Given the description of an element on the screen output the (x, y) to click on. 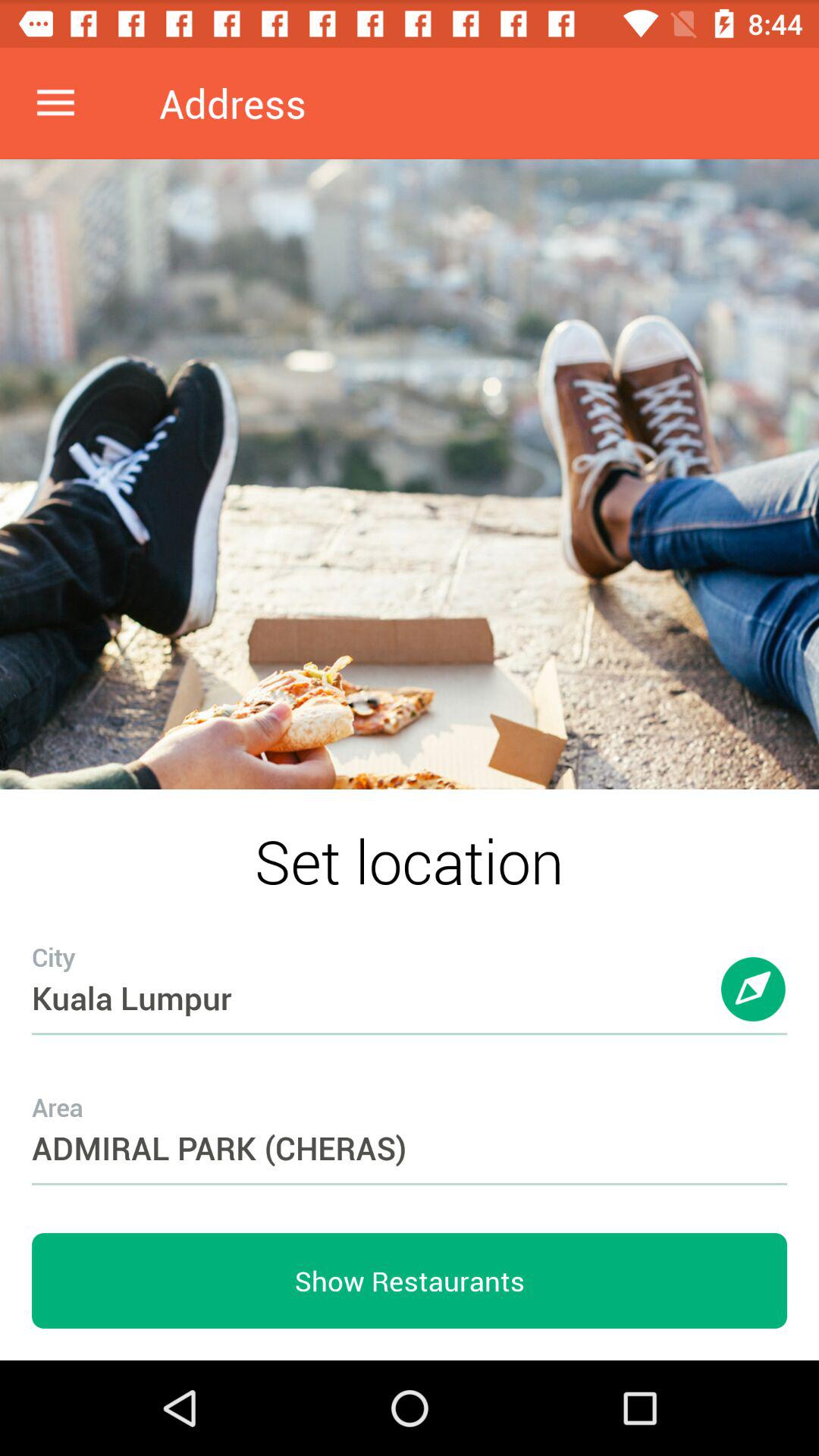
go to menu (55, 103)
